Given the description of an element on the screen output the (x, y) to click on. 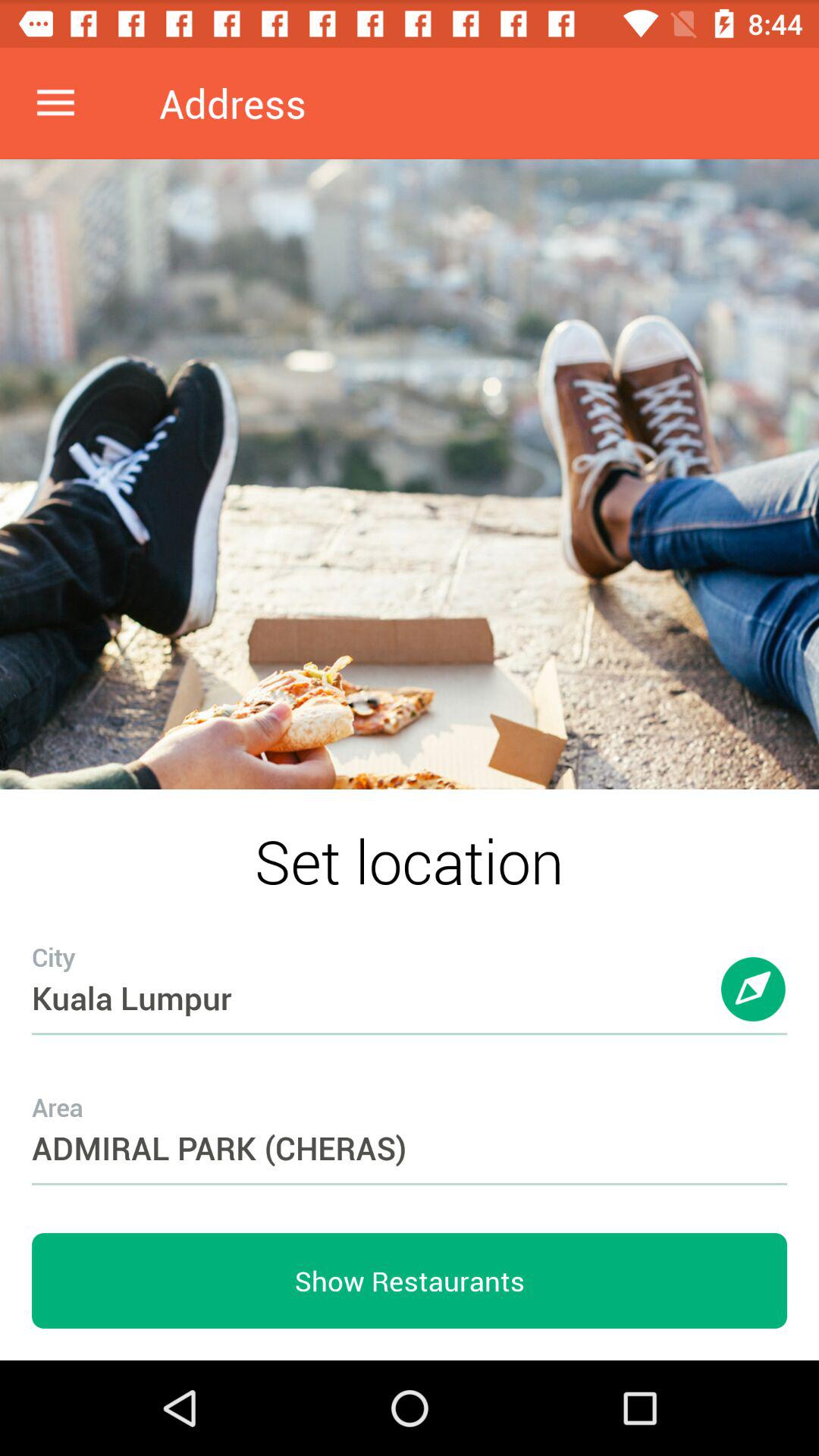
go to menu (55, 103)
